Given the description of an element on the screen output the (x, y) to click on. 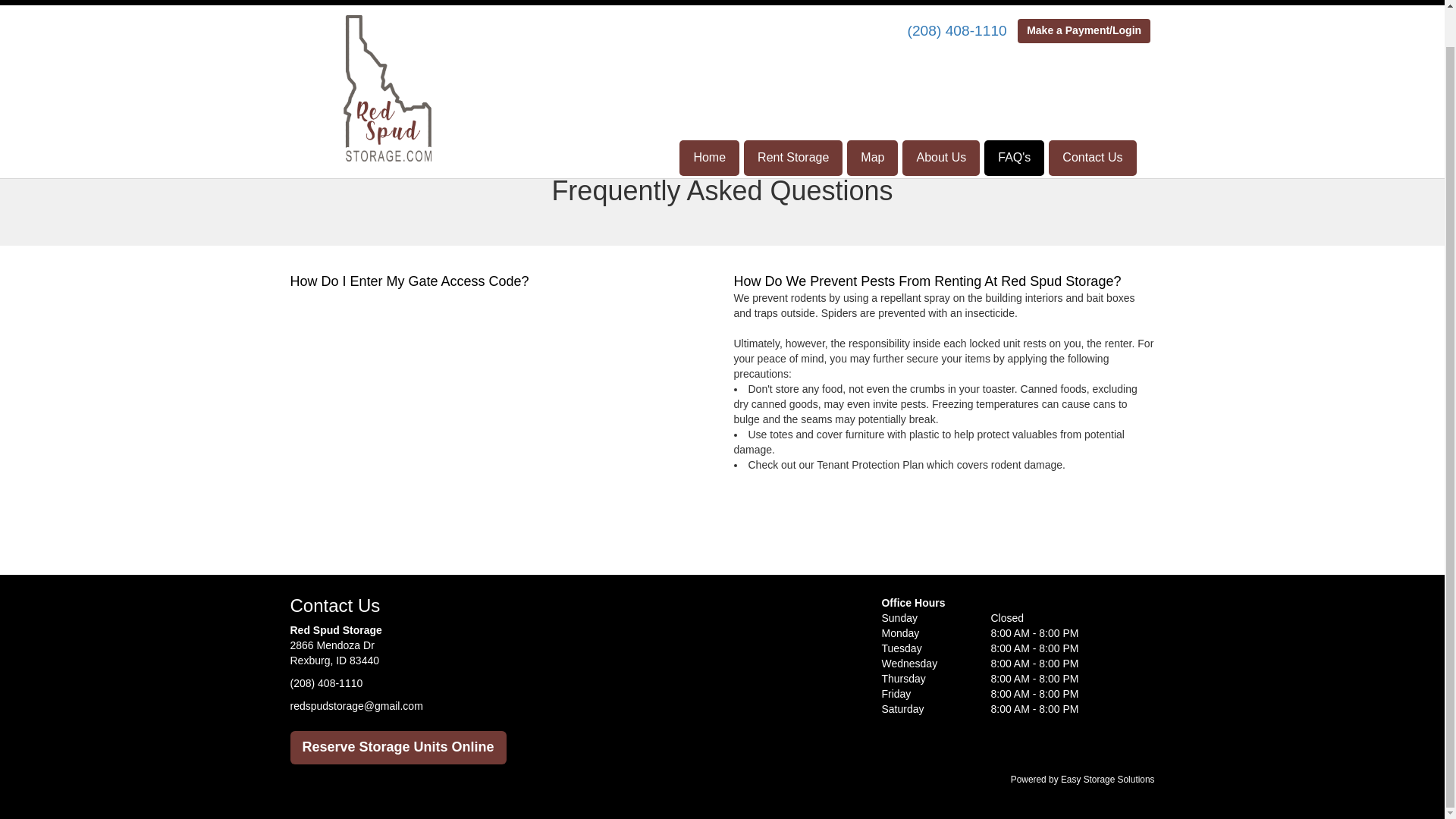
Contact Us (1091, 119)
About Us (940, 119)
Home (709, 119)
Map (872, 119)
Easy Storage Solutions (1107, 778)
Reserve Storage Units Online (397, 747)
Rent Storage (793, 119)
FAQ's (1013, 119)
